Given the description of an element on the screen output the (x, y) to click on. 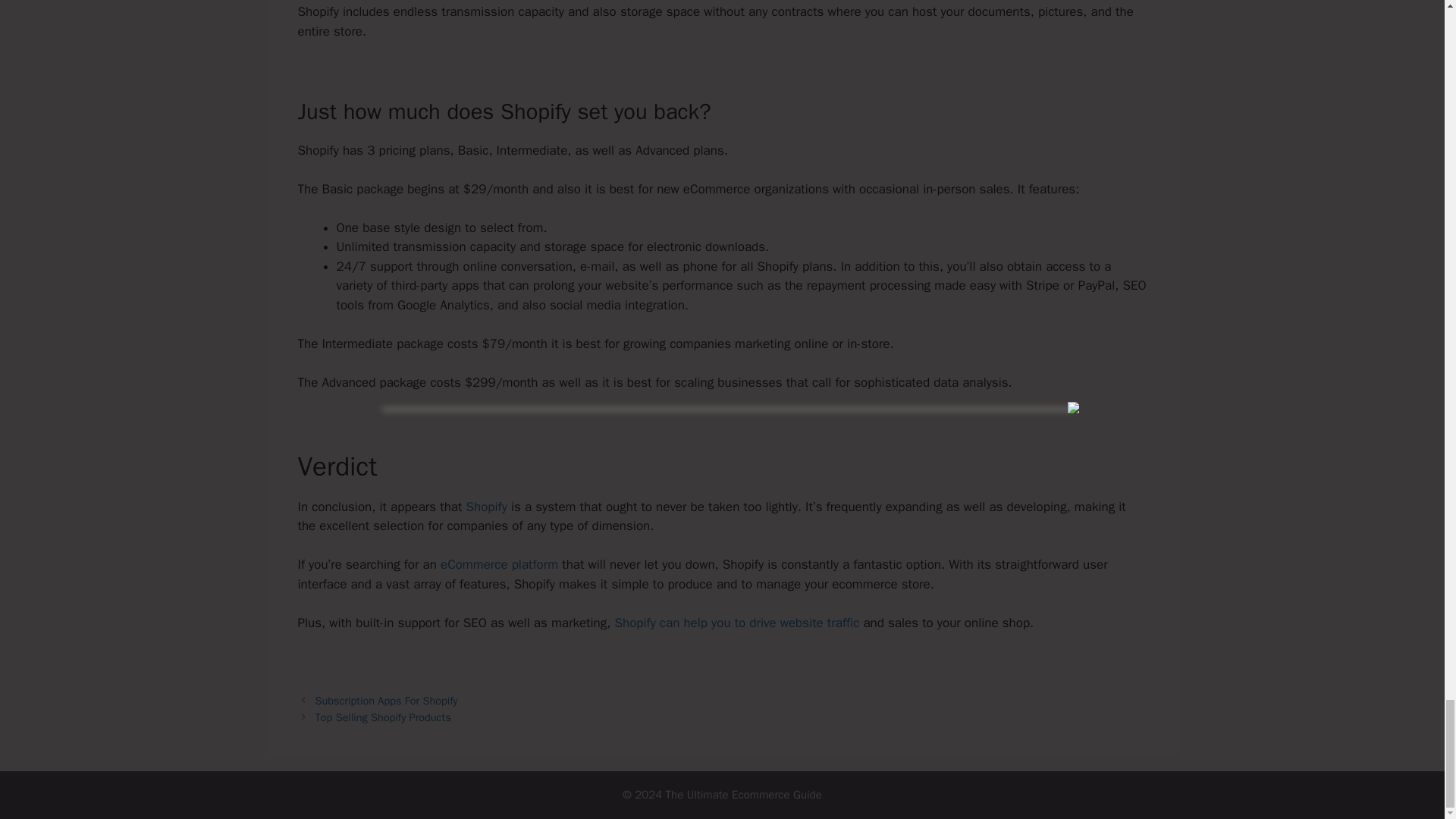
Shopify can help you to drive website traffic (736, 622)
Top Selling Shopify Products (383, 716)
Shopify (485, 506)
Subscription Apps For Shopify (386, 700)
eCommerce platform (499, 564)
